Given the description of an element on the screen output the (x, y) to click on. 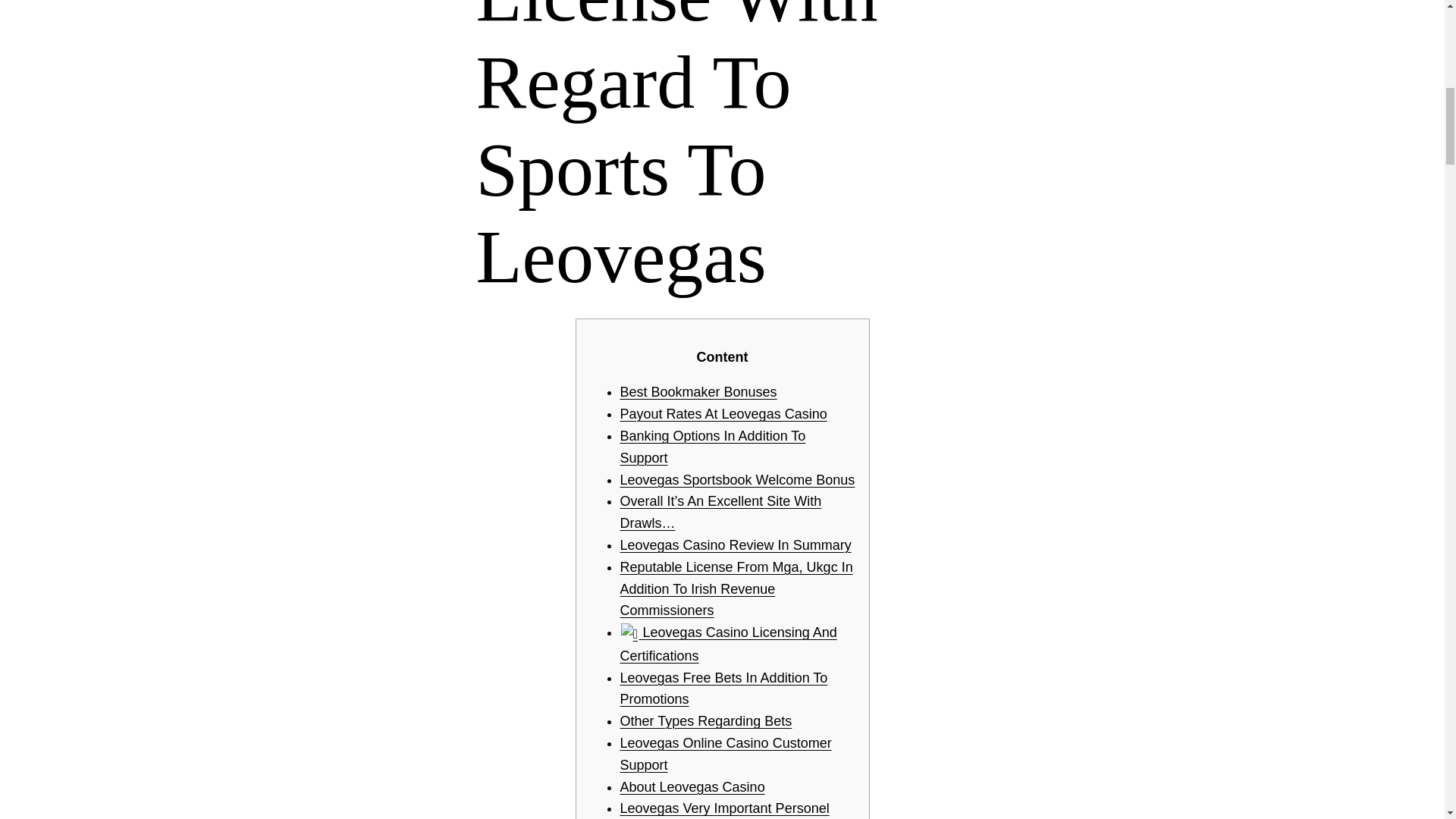
Leovegas Casino Licensing And Certifications (728, 643)
Best Bookmaker Bonuses (698, 391)
Banking Options In Addition To Support (713, 447)
About Leovegas Casino (692, 786)
Payout Rates At Leovegas Casino (723, 413)
Leovegas Casino Review In Summary (735, 544)
Leovegas Very Important Personel Programme (724, 809)
Other Types Regarding Bets (706, 720)
Leovegas Sportsbook Welcome Bonus (738, 479)
Leovegas Free Bets In Addition To Promotions (724, 688)
Leovegas Online Casino Customer Support (725, 754)
